Given the description of an element on the screen output the (x, y) to click on. 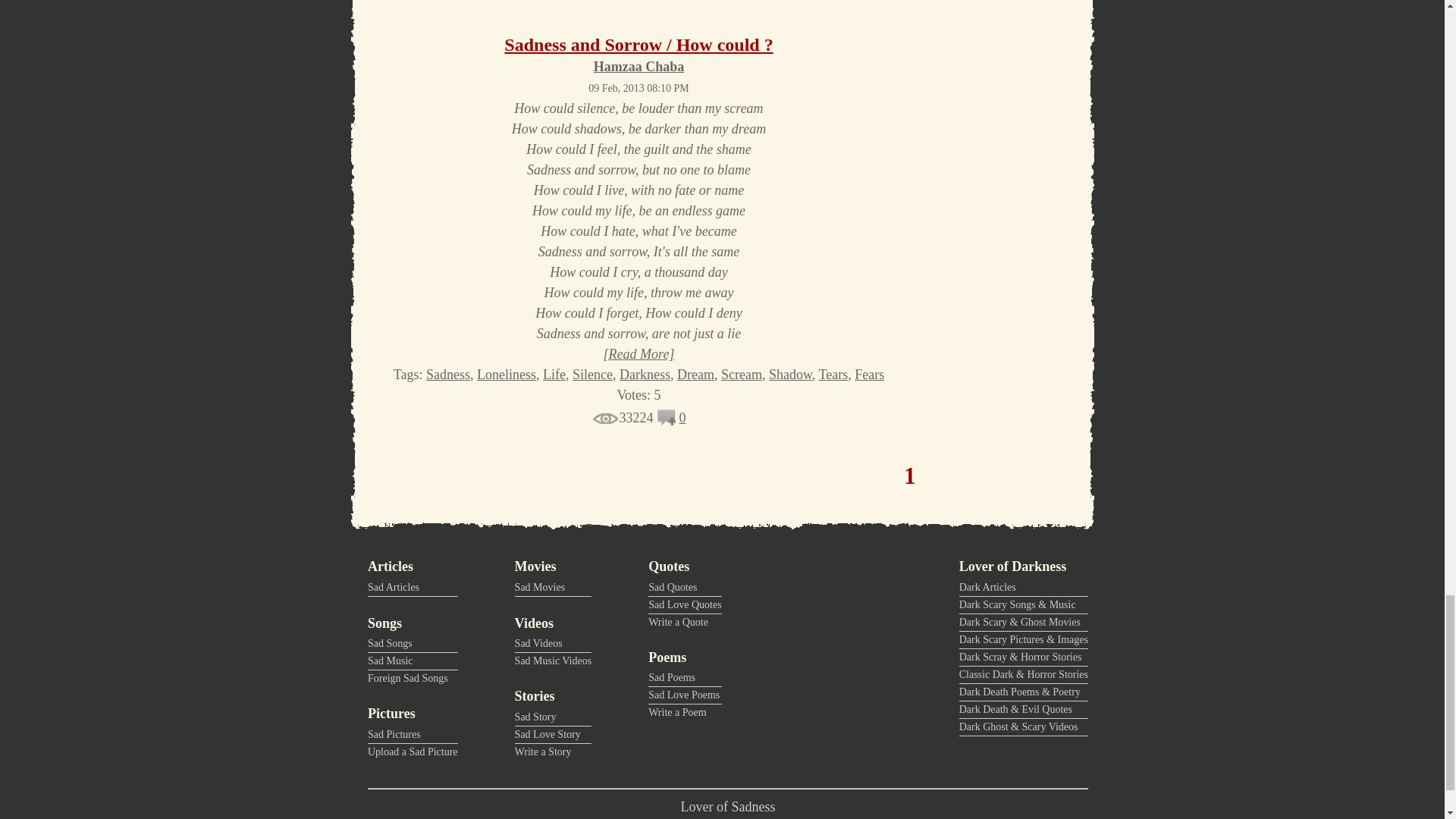
Post a comment (667, 421)
Total Visited 33224 Times (621, 417)
